Given the description of an element on the screen output the (x, y) to click on. 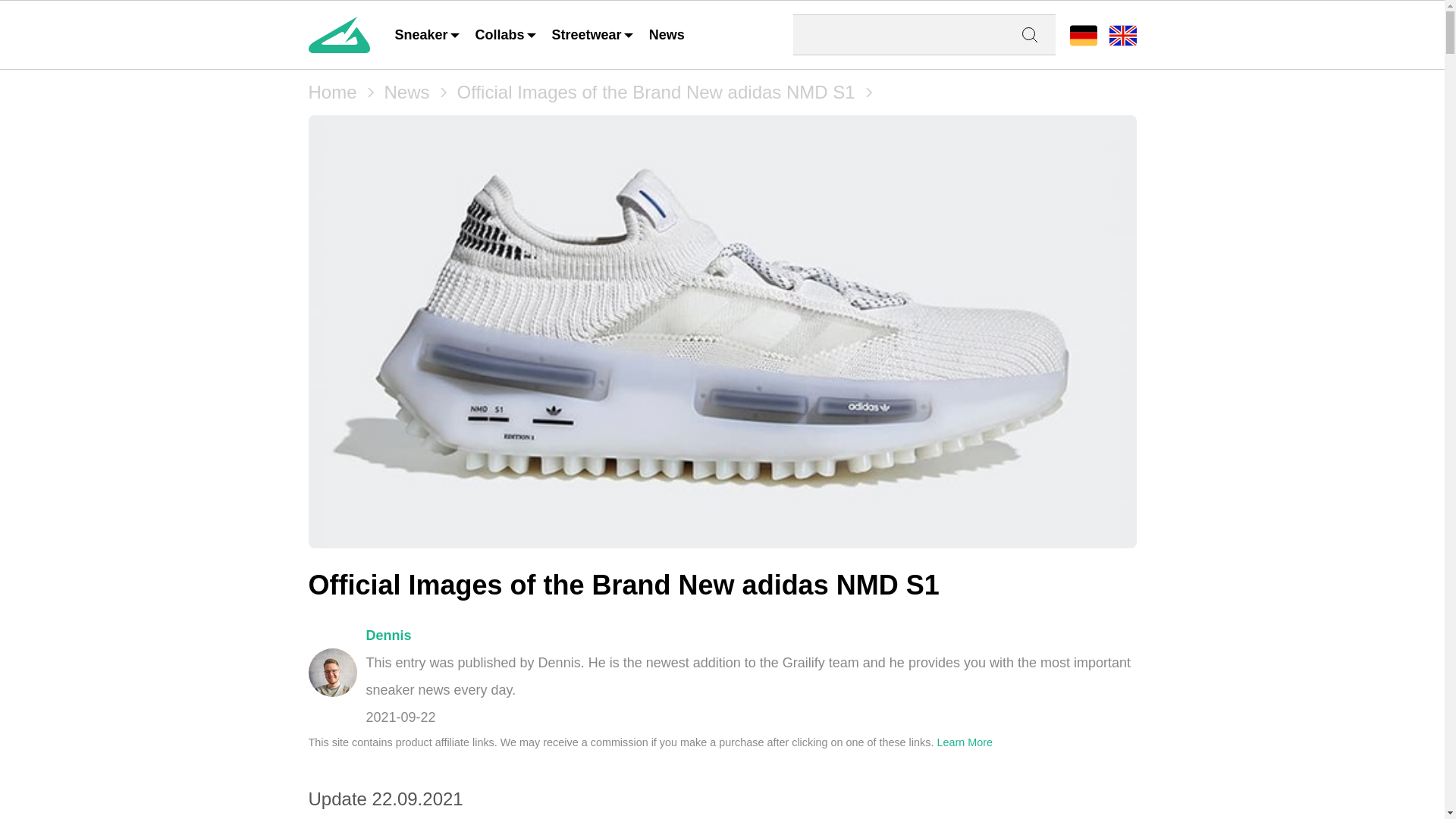
Official Images of the Brand New adidas NMD S1 (656, 92)
Sneaker (427, 34)
Streetwear (592, 34)
Collabs (507, 34)
Dennis (331, 672)
News (406, 92)
Home (331, 92)
Learn More (964, 742)
Dennis (387, 635)
